Given the description of an element on the screen output the (x, y) to click on. 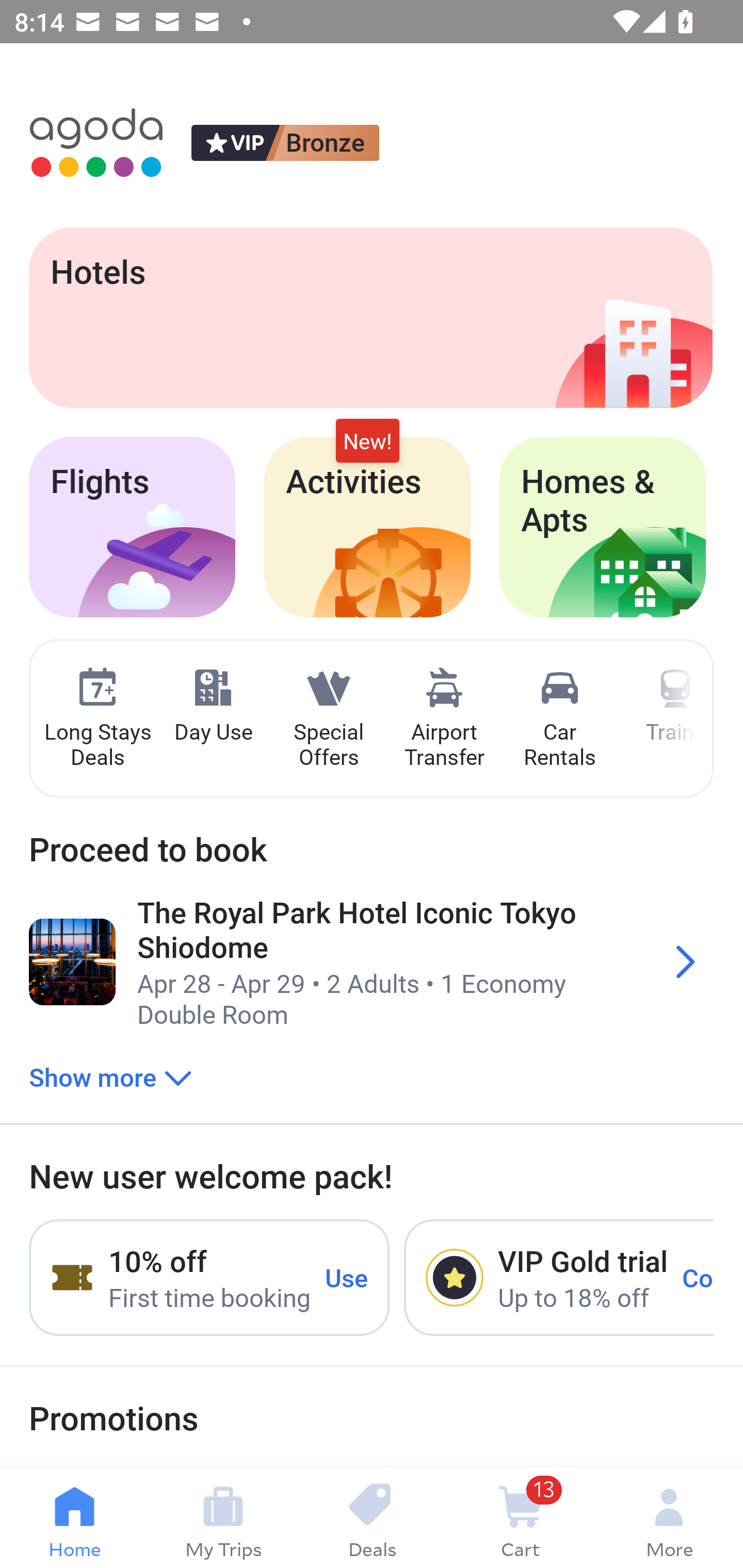
Hotels (370, 317)
New! (367, 441)
Flights (131, 527)
Activities (367, 527)
Homes & Apts (602, 527)
Day Use (213, 706)
Long Stays Deals (97, 718)
Special Offers (328, 718)
Airport Transfer (444, 718)
Car Rentals (559, 718)
Show more (110, 1076)
Use (346, 1277)
Home (74, 1518)
My Trips (222, 1518)
Deals (371, 1518)
13 Cart (519, 1518)
More (668, 1518)
